Given the description of an element on the screen output the (x, y) to click on. 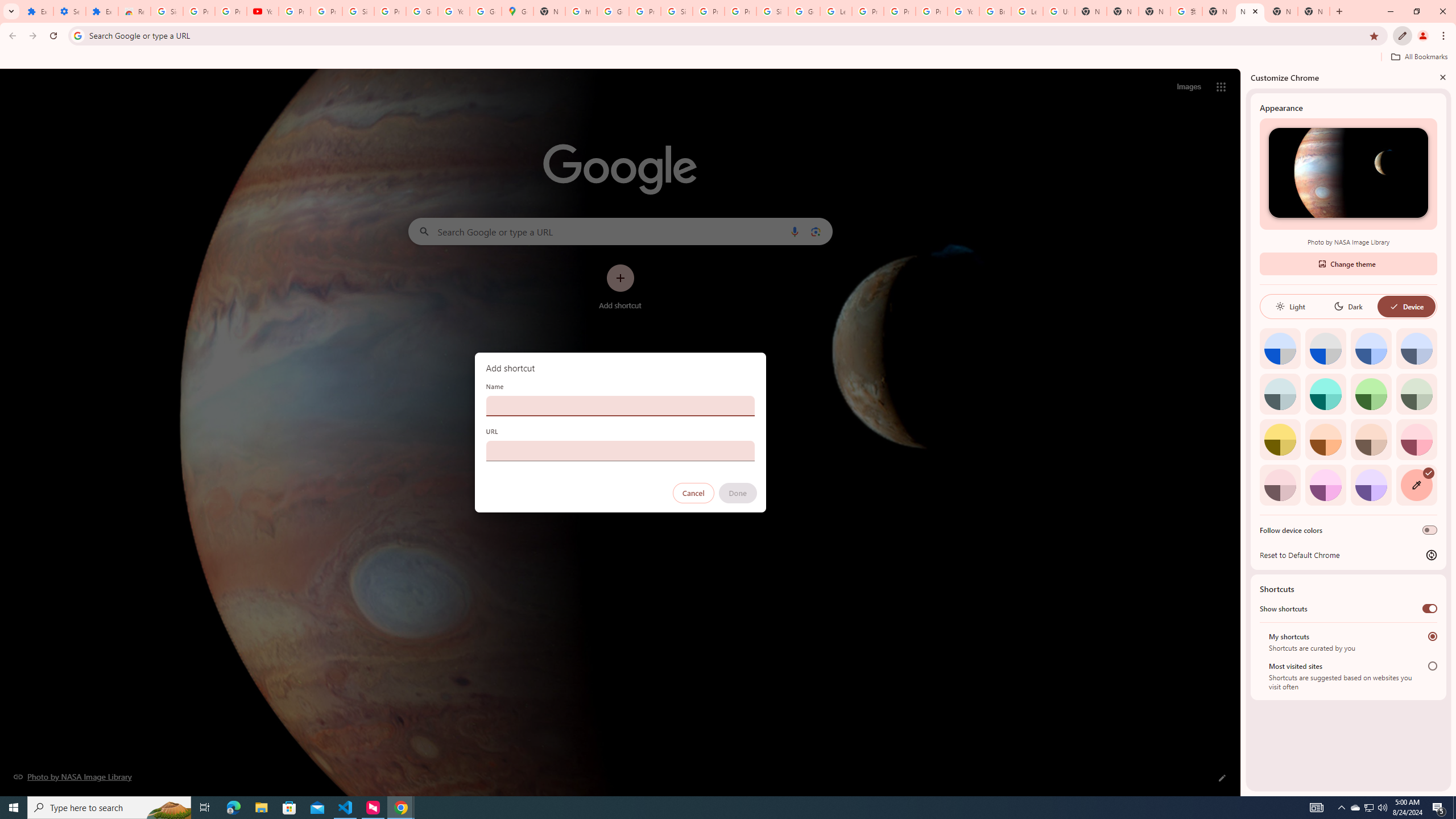
Reset to Default Chrome (1347, 554)
YouTube (453, 11)
Cool grey (1416, 348)
Pink (1279, 484)
Bookmarks (728, 58)
Customize Chrome (1402, 35)
Sign in - Google Accounts (772, 11)
Change theme (1348, 263)
Search icon (77, 35)
Sign in - Google Accounts (358, 11)
Google Account (421, 11)
